Given the description of an element on the screen output the (x, y) to click on. 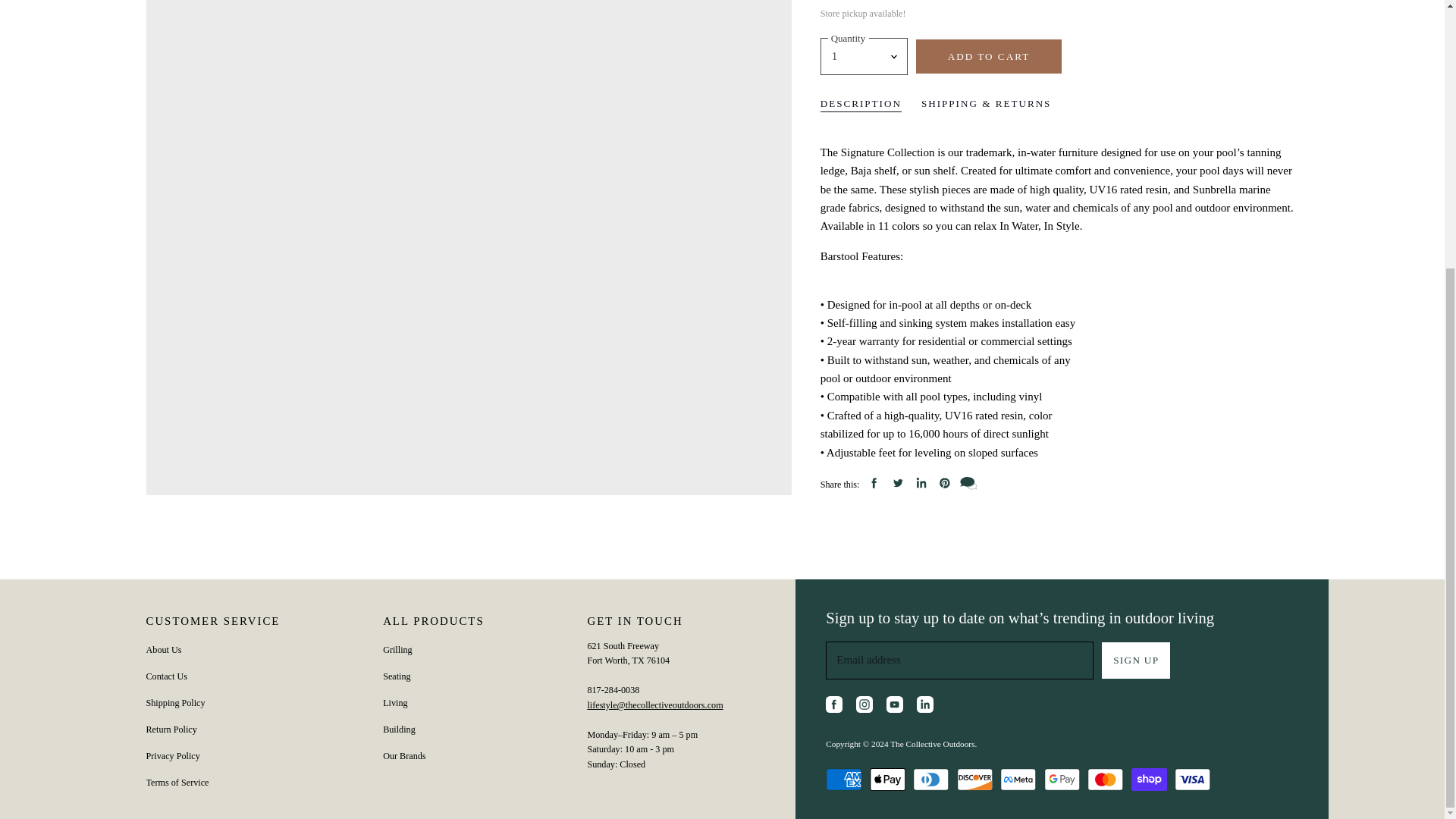
LinkedIn (927, 706)
Facebook (836, 706)
Youtube (897, 706)
Instagram (866, 706)
